Given the description of an element on the screen output the (x, y) to click on. 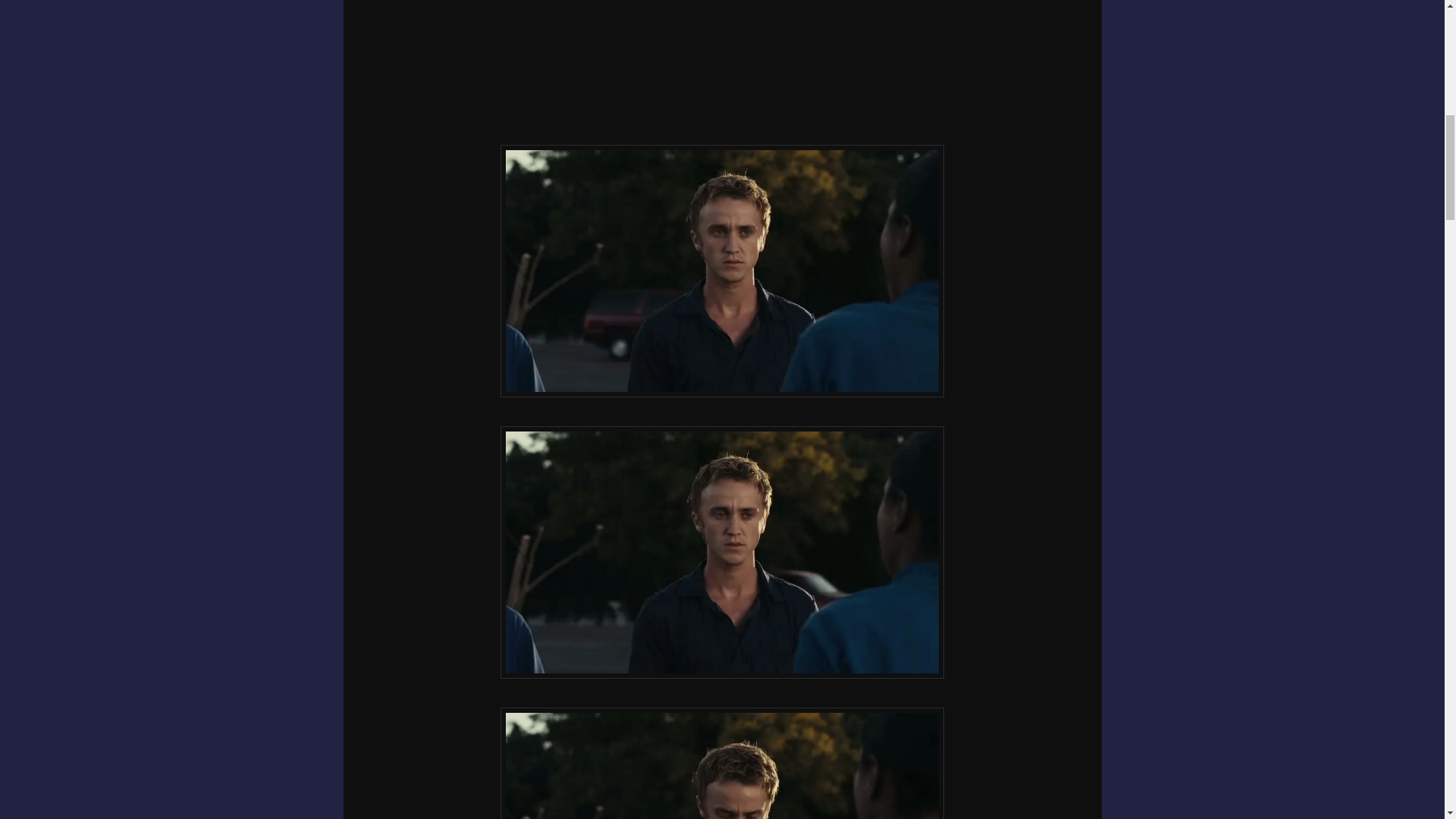
Tom - From the Rough 2 120 (721, 270)
Tom - From the Rough 2 128 (721, 763)
Tom - From the Rough 2 122 (721, 551)
